Given the description of an element on the screen output the (x, y) to click on. 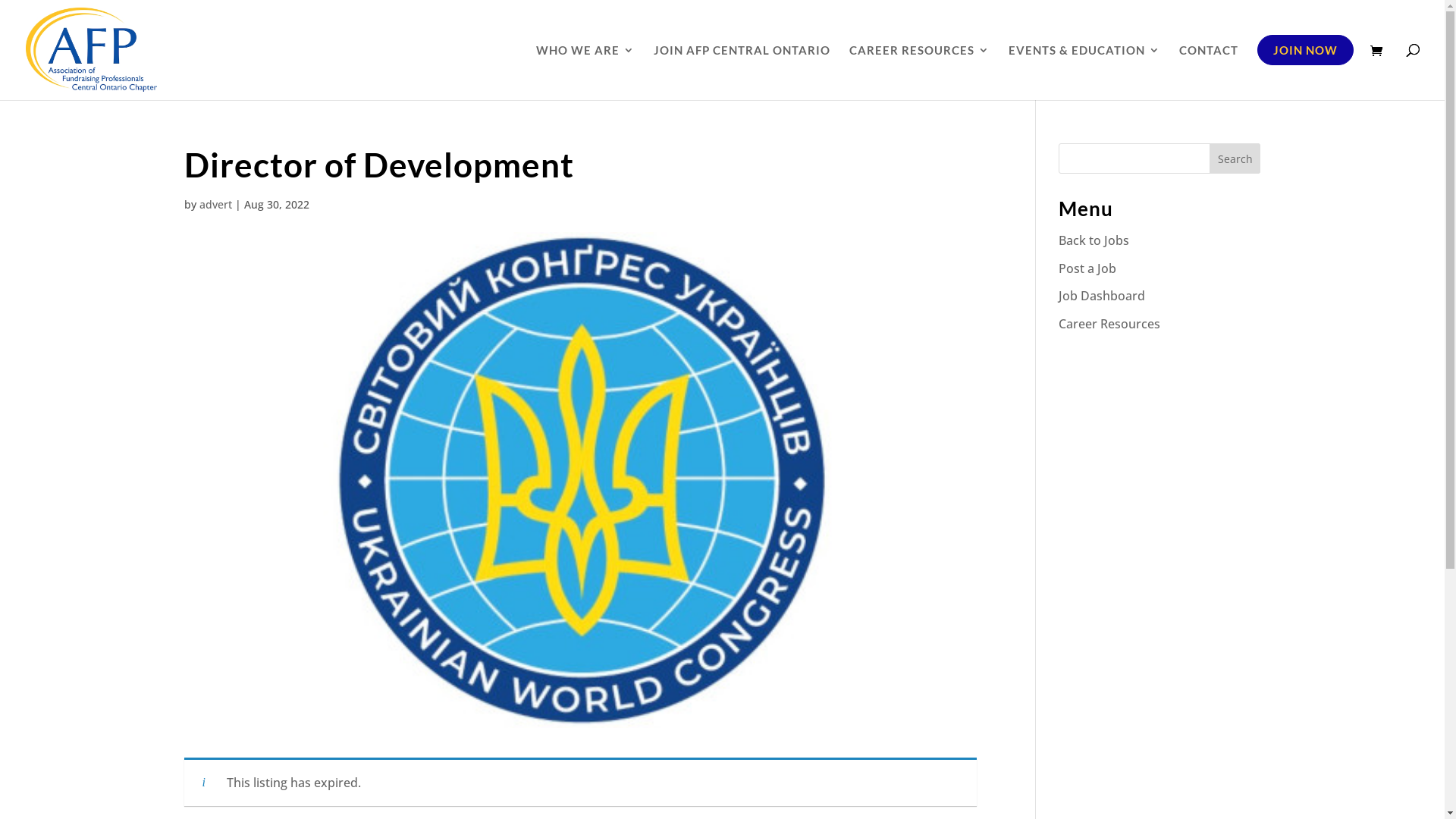
Post a Job Element type: text (1087, 268)
JOIN NOW Element type: text (1305, 71)
Job Dashboard Element type: text (1101, 295)
WHO WE ARE Element type: text (585, 71)
EVENTS & EDUCATION Element type: text (1084, 71)
CAREER RESOURCES Element type: text (919, 71)
Back to Jobs Element type: text (1093, 240)
JOIN AFP CENTRAL ONTARIO Element type: text (741, 71)
advert Element type: text (214, 204)
Search Element type: text (1235, 158)
Career Resources Element type: text (1109, 323)
CONTACT Element type: text (1208, 71)
